Given the description of an element on the screen output the (x, y) to click on. 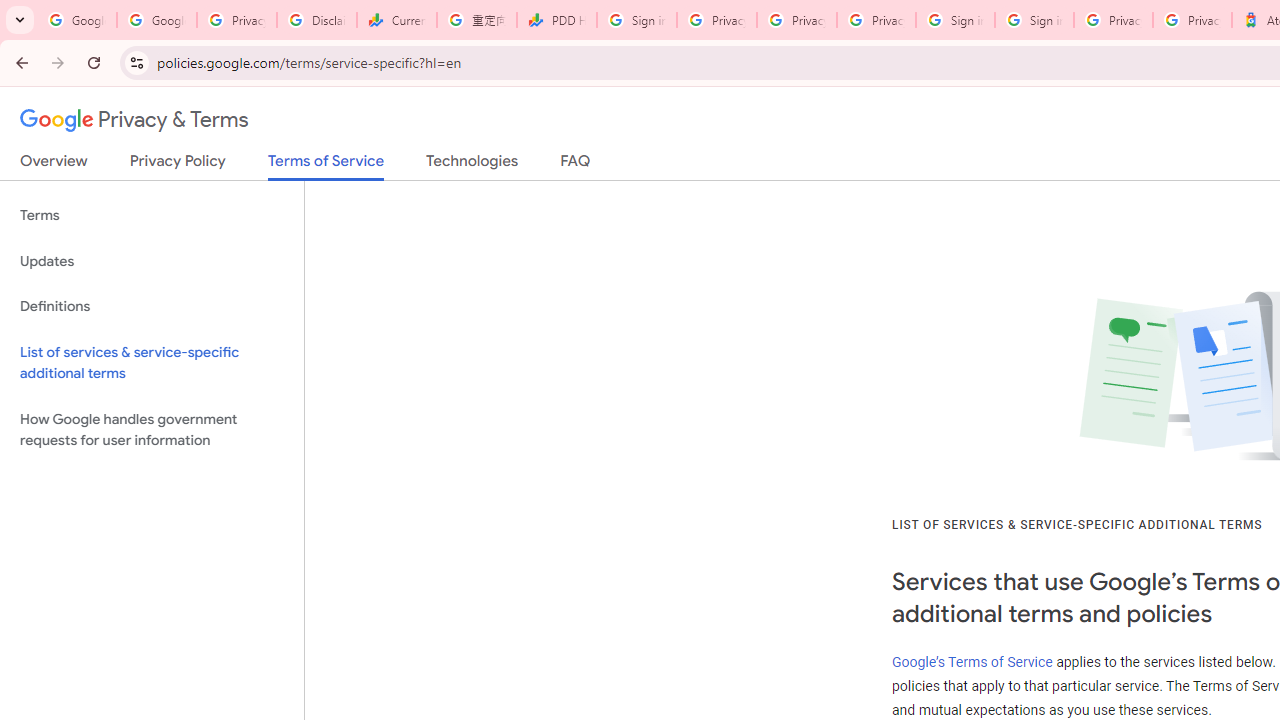
Privacy Checkup (796, 20)
Currencies - Google Finance (396, 20)
